Given the description of an element on the screen output the (x, y) to click on. 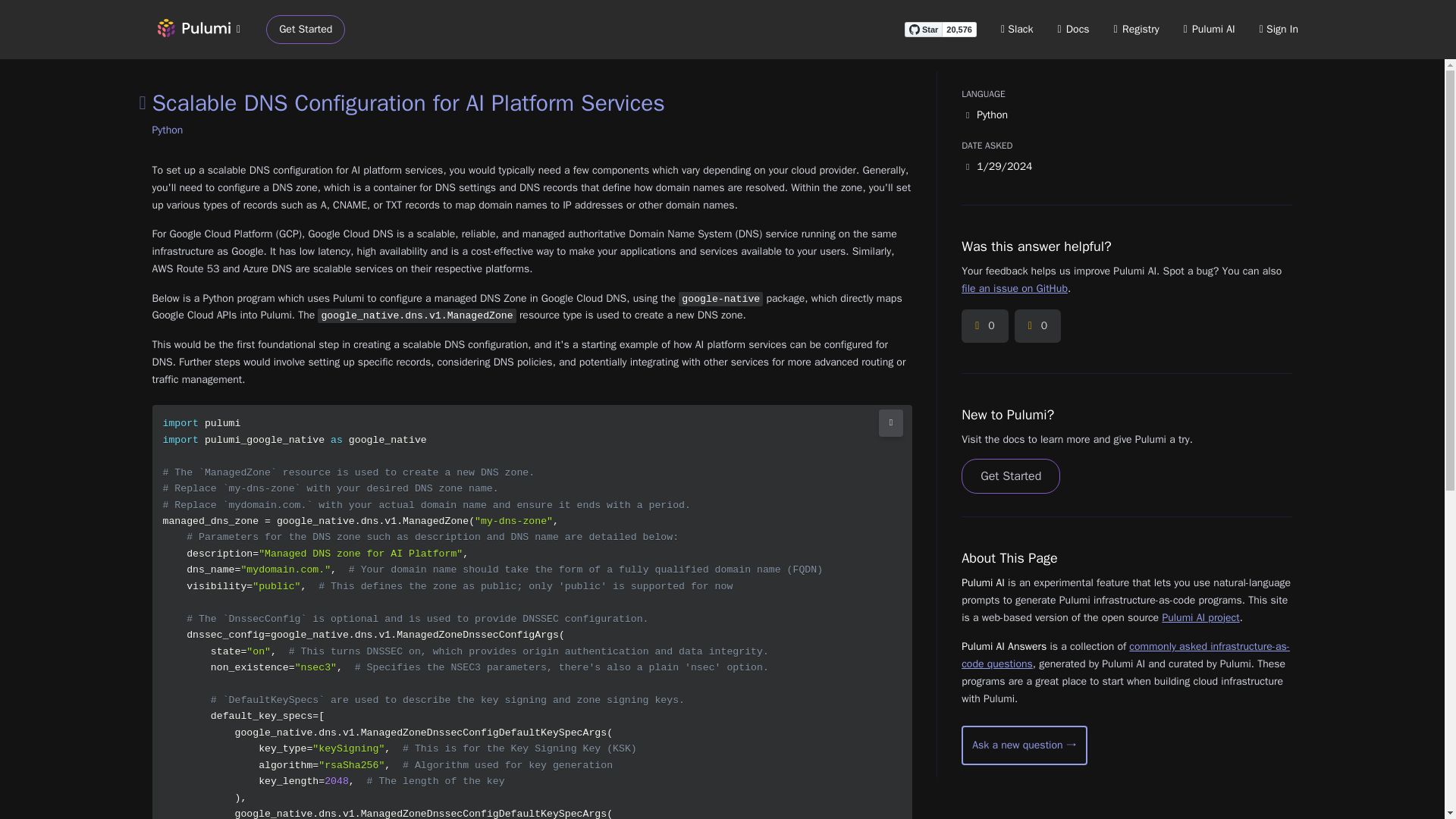
Sign In (1278, 29)
Docs (1073, 29)
Start a new conversation with Pulumi AI (1023, 744)
20,576 (959, 29)
Registry (1135, 29)
Upvote this answer (984, 326)
Get Started (305, 29)
Downvote this answer (1037, 326)
0 (984, 326)
Slack (1017, 29)
Pulumi AI (1208, 29)
0 (1037, 326)
file an issue on GitHub (1013, 287)
 Star (923, 29)
